Given the description of an element on the screen output the (x, y) to click on. 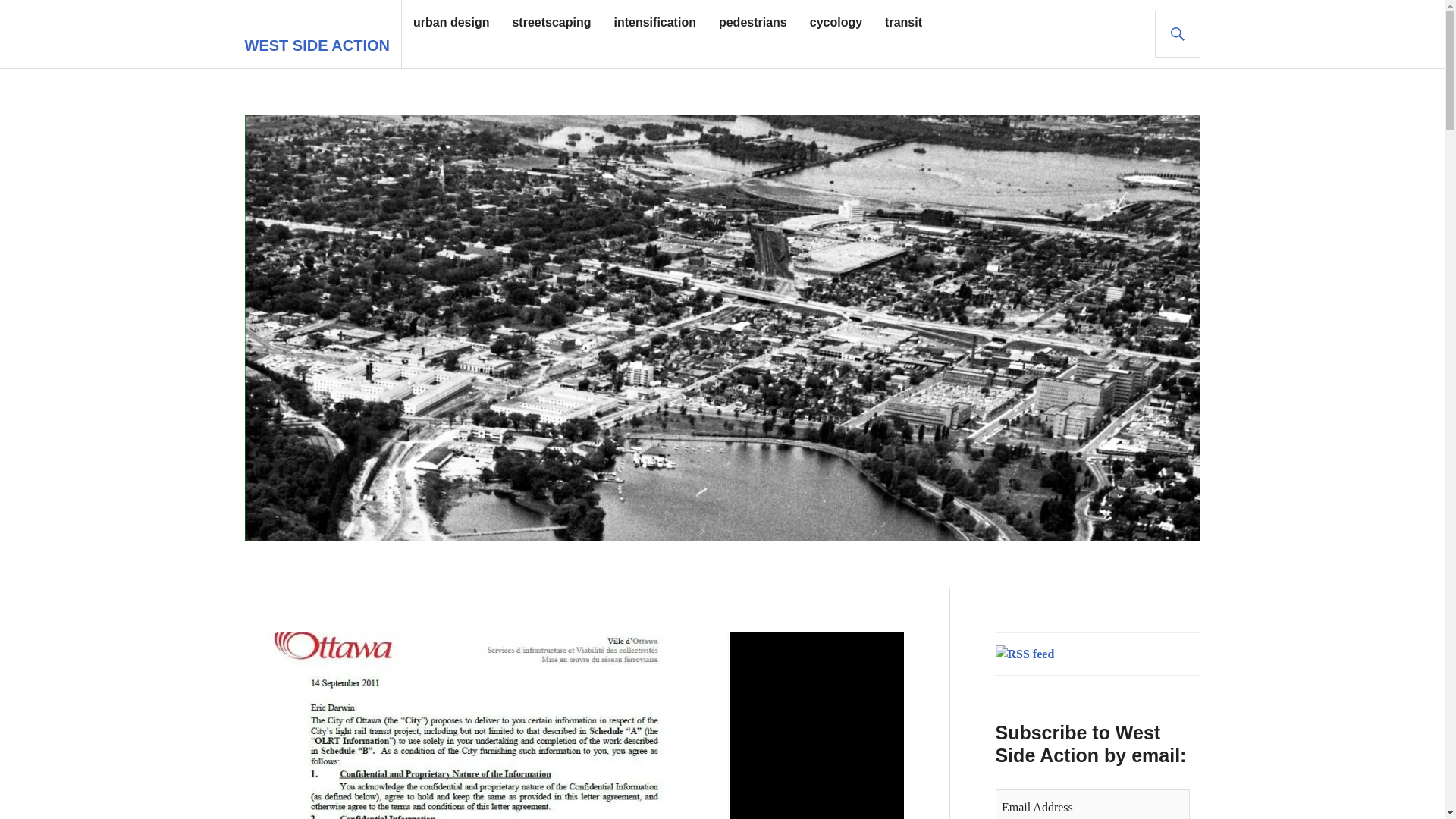
intensification (653, 22)
cycology (835, 22)
transit (903, 22)
urban design (451, 22)
streetscaping (551, 22)
SEARCH (1176, 33)
WEST SIDE ACTION (316, 45)
pedestrians (753, 22)
See, Hear, but share no evil (486, 725)
Subscribe to posts (1024, 653)
